Given the description of an element on the screen output the (x, y) to click on. 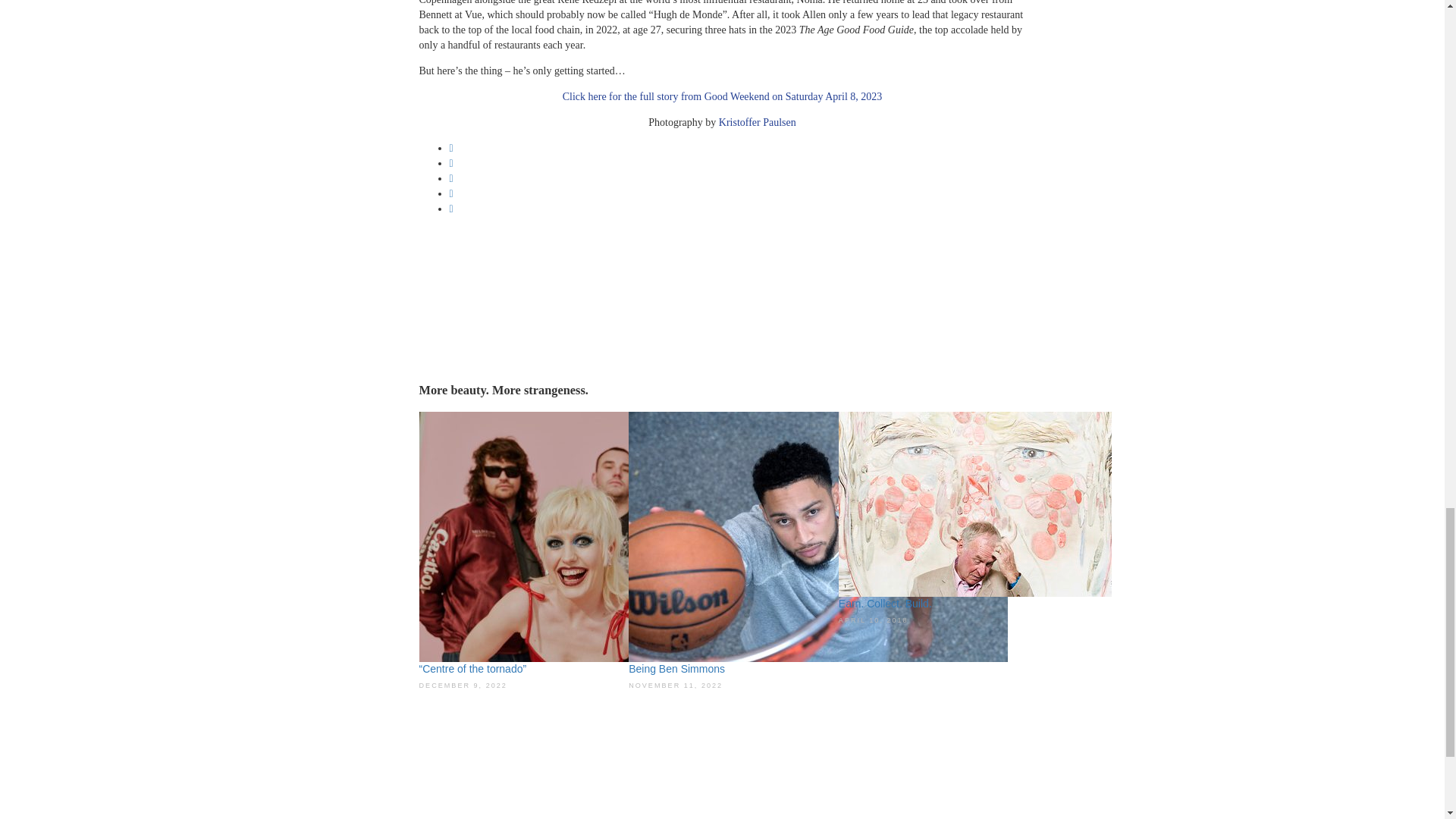
Being Ben Simmons (817, 535)
Earn. Collect. Build. (884, 603)
Earn. Collect. Build. (975, 502)
Kristoffer Paulsen (757, 122)
Earn. Collect. Build. (884, 603)
Being Ben Simmons (676, 668)
Being Ben Simmons (676, 668)
